Given the description of an element on the screen output the (x, y) to click on. 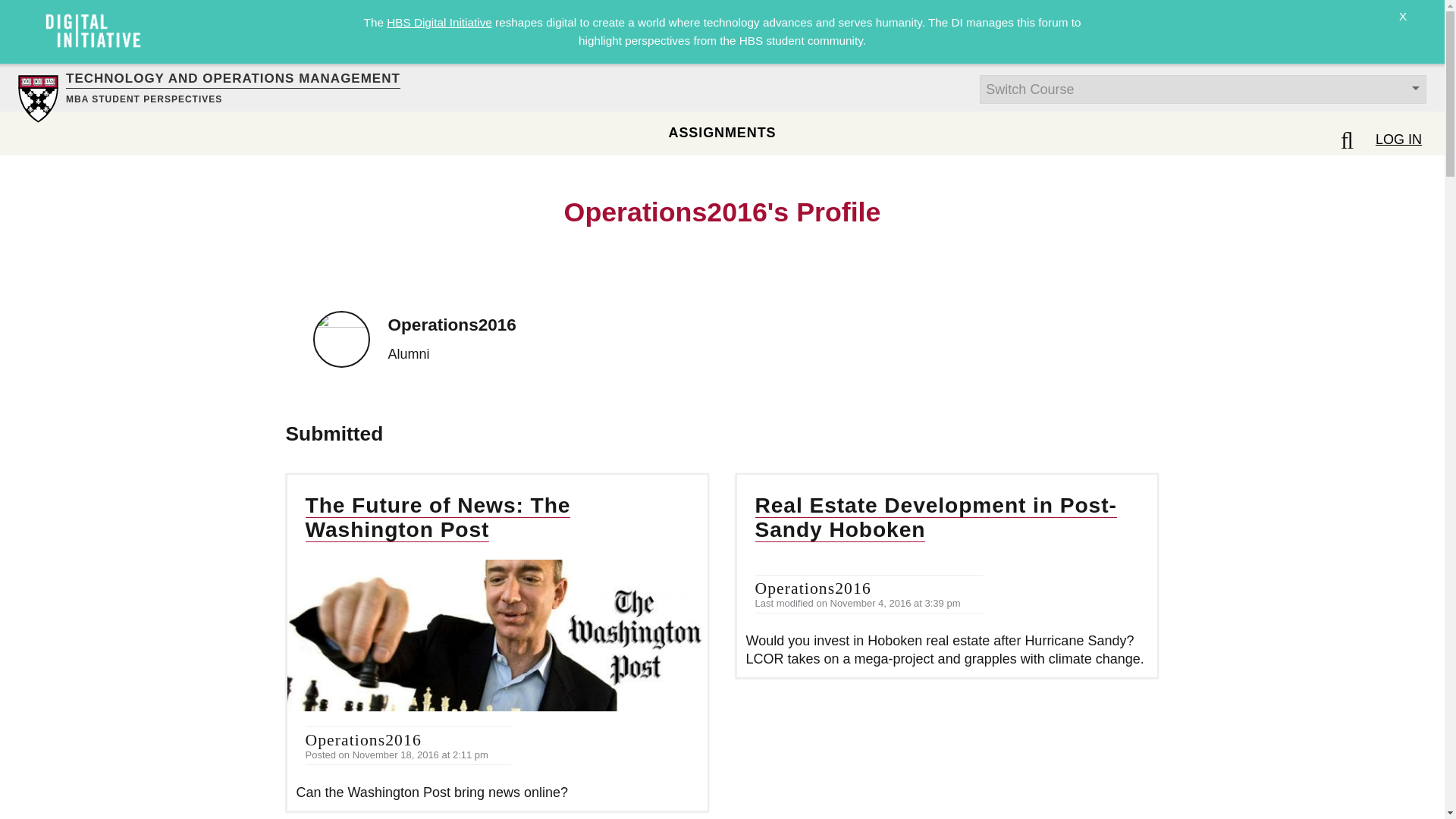
ASSIGNMENTS (722, 132)
HBS Digital Initiative (439, 21)
LOG IN (1398, 139)
Go (18, 9)
Close and dismiss. (1403, 26)
